Given the description of an element on the screen output the (x, y) to click on. 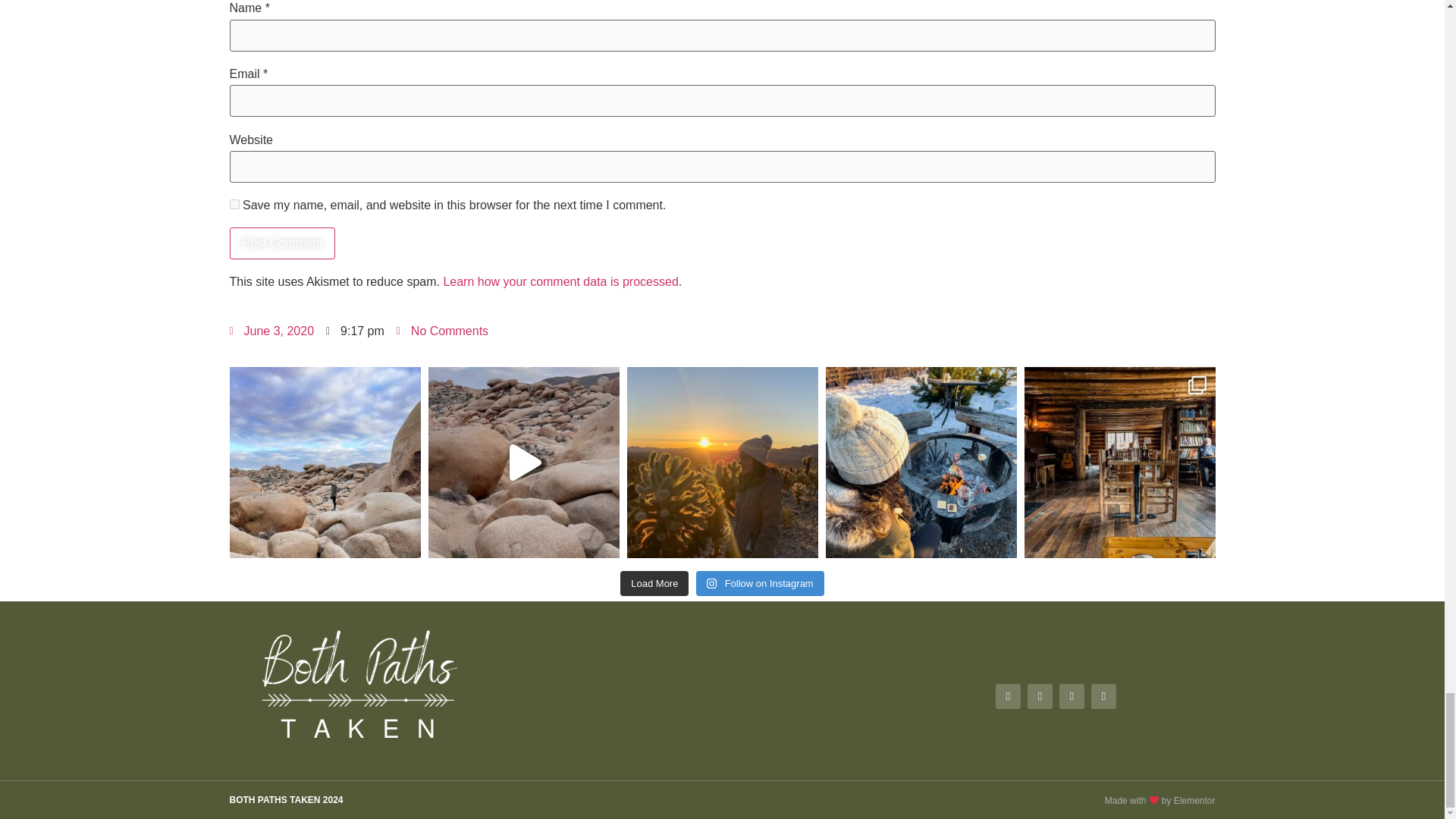
June 3, 2020 (271, 331)
Follow on Instagram (759, 583)
Post Comment (281, 243)
No Comments (441, 331)
Load More (654, 583)
yes (233, 204)
Post Comment (281, 243)
Learn how your comment data is processed (560, 281)
